Given the description of an element on the screen output the (x, y) to click on. 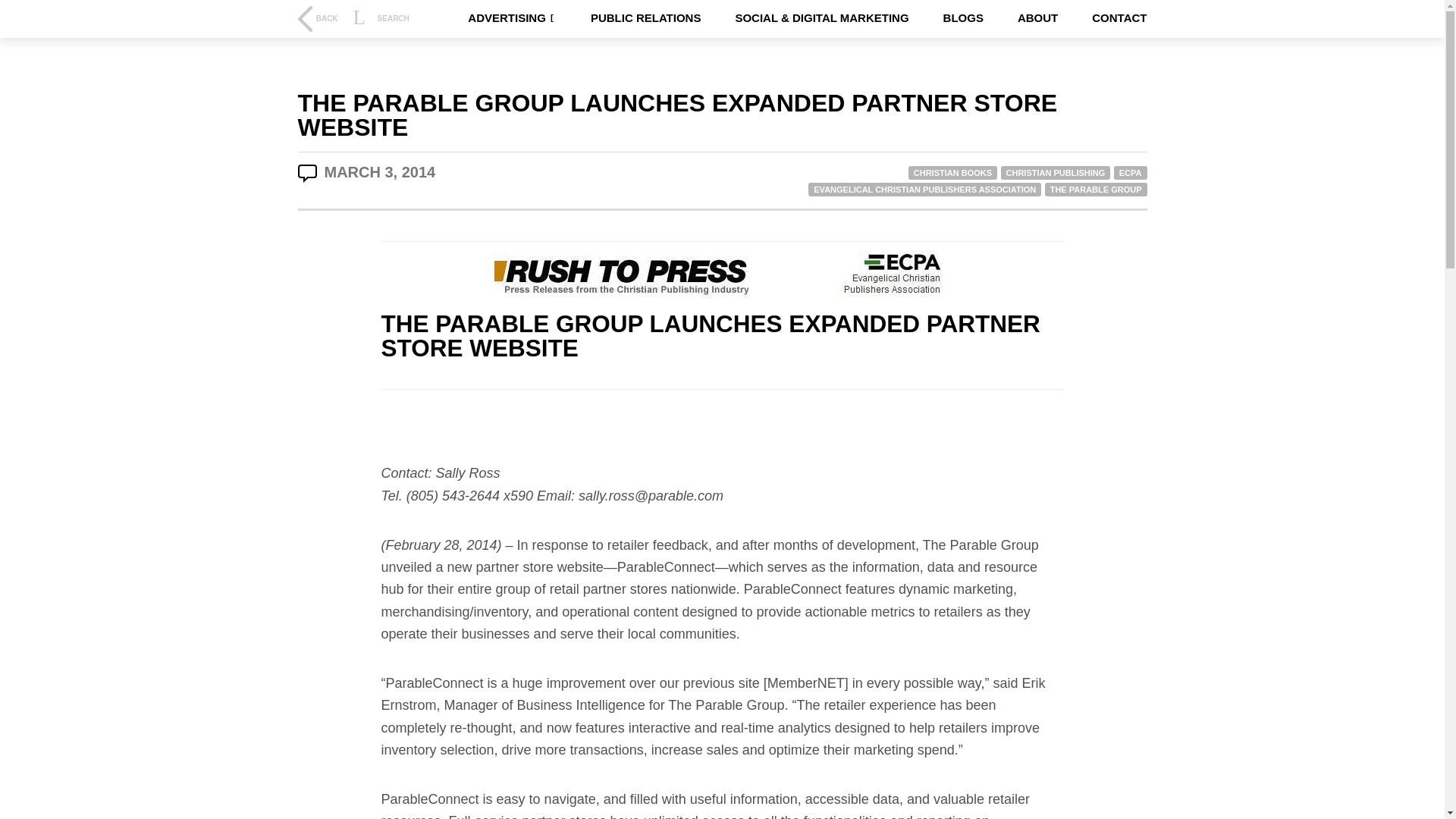
ADVERTISING (510, 18)
ECPA (1130, 172)
ABOUT (1037, 18)
EVANGELICAL CHRISTIAN PUBLISHERS ASSOCIATION (924, 189)
CHRISTIAN PUBLISHING (1055, 172)
CONTACT (1119, 18)
BACK (317, 18)
THE PARABLE GROUP (1096, 189)
CHRISTIAN BOOKS (952, 172)
BLOGS (963, 18)
PUBLIC RELATIONS (646, 18)
